Given the description of an element on the screen output the (x, y) to click on. 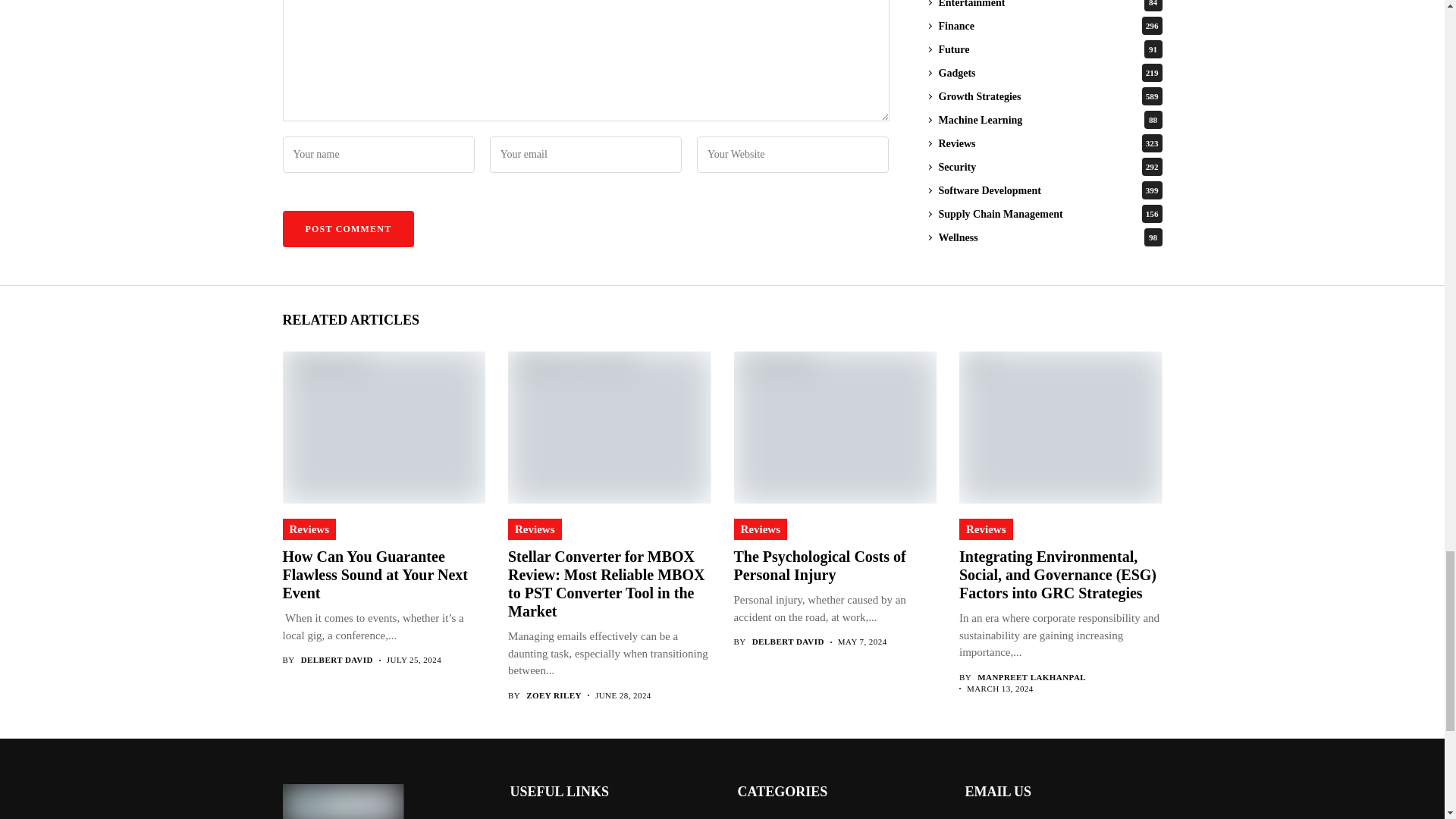
Post Comment (347, 228)
Posts by Zoey Riley (552, 696)
Please wait until Google reCAPTCHA is loaded. (347, 228)
Posts by Delbert David (788, 642)
Posts by Manpreet Lakhanpal (1031, 677)
Posts by Delbert David (336, 660)
